Given the description of an element on the screen output the (x, y) to click on. 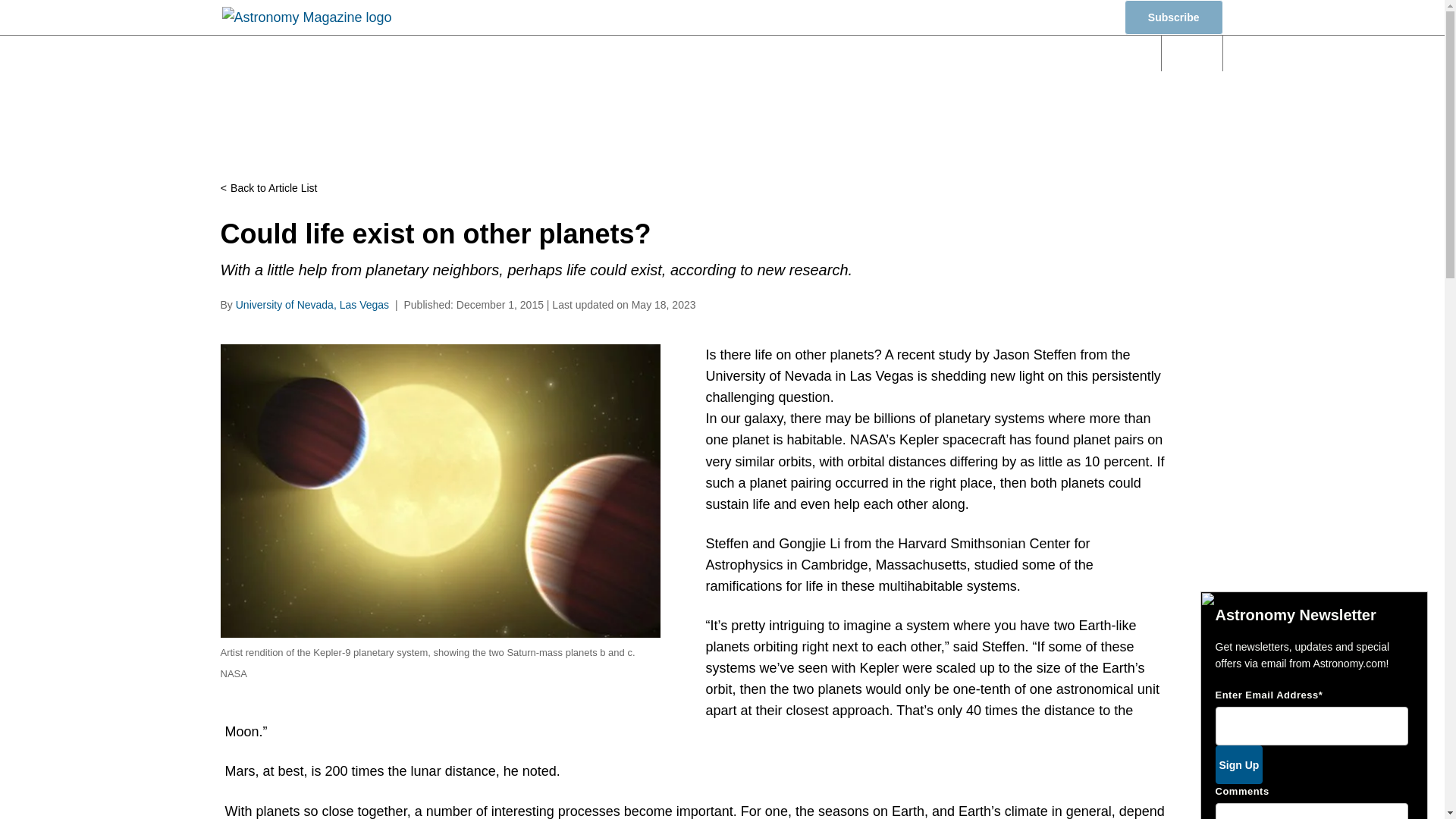
Space Exploration (850, 53)
Ask Astro (1096, 53)
Science (618, 53)
The Magazine (987, 53)
Sign Up (1238, 764)
Observing (720, 53)
Search (1192, 53)
Subscribe (1173, 17)
News (532, 53)
Posts by University of Nevada, Las Vegas (311, 304)
